Given the description of an element on the screen output the (x, y) to click on. 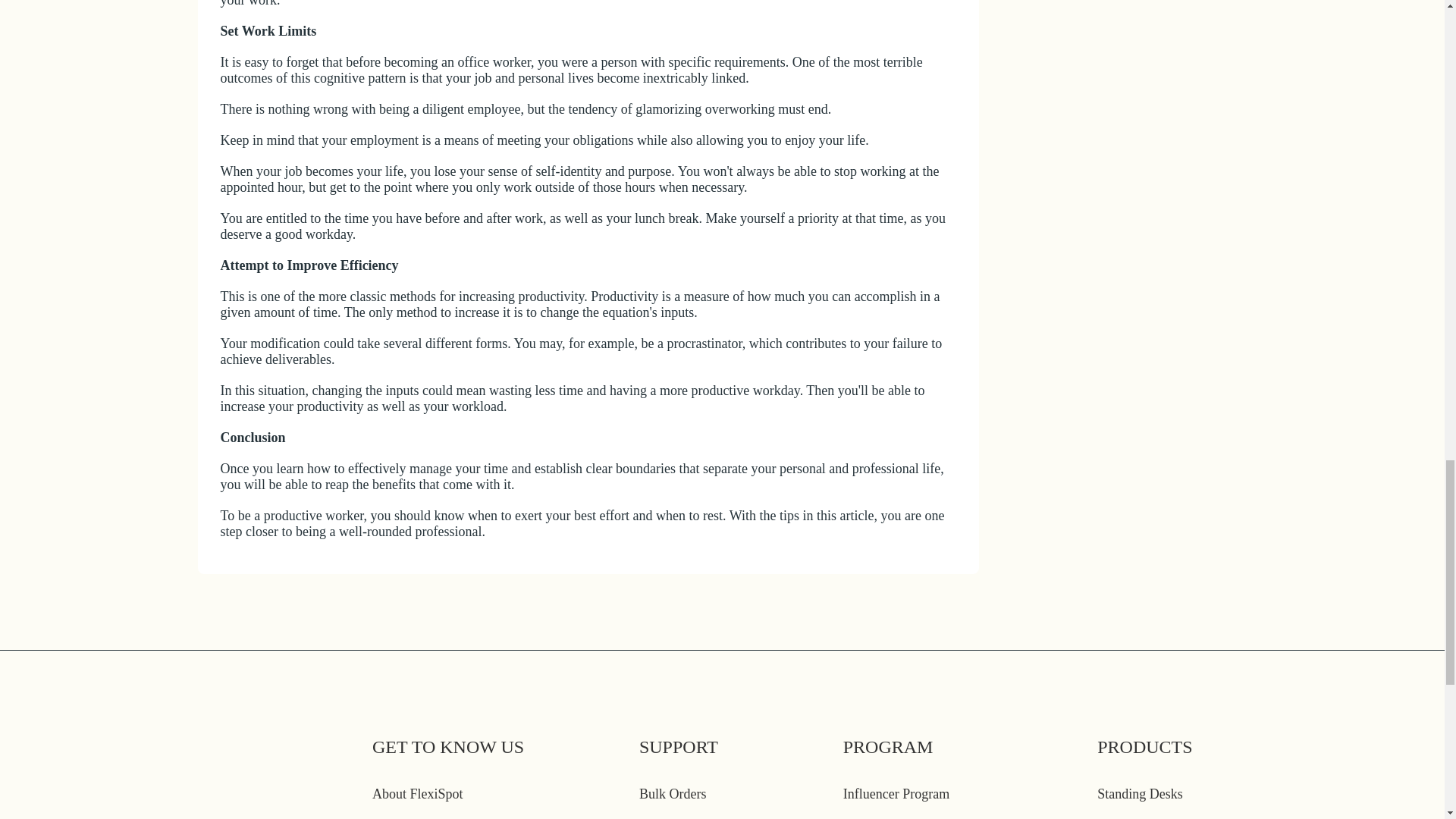
Bulk Orders (672, 793)
Influencer Program (896, 793)
About FlexiSpot (417, 793)
Standing Desks (1139, 793)
